Given the description of an element on the screen output the (x, y) to click on. 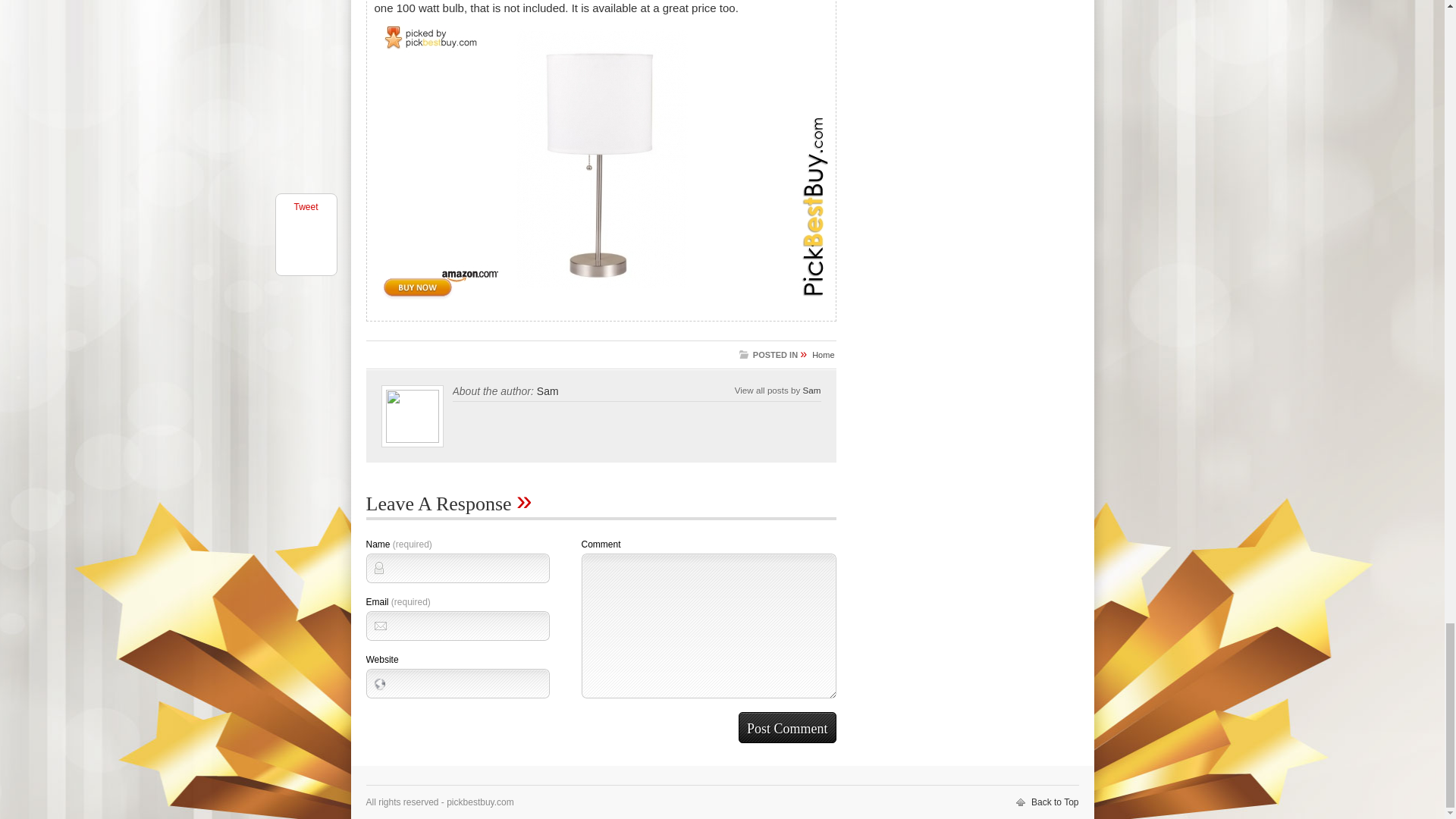
ORE International 8312D Brushed Steel Table Lamp  (601, 158)
Home (823, 354)
Sam (812, 389)
Post Comment (786, 726)
Post Comment (786, 726)
Sam (548, 390)
Posts by Sam (812, 389)
